Given the description of an element on the screen output the (x, y) to click on. 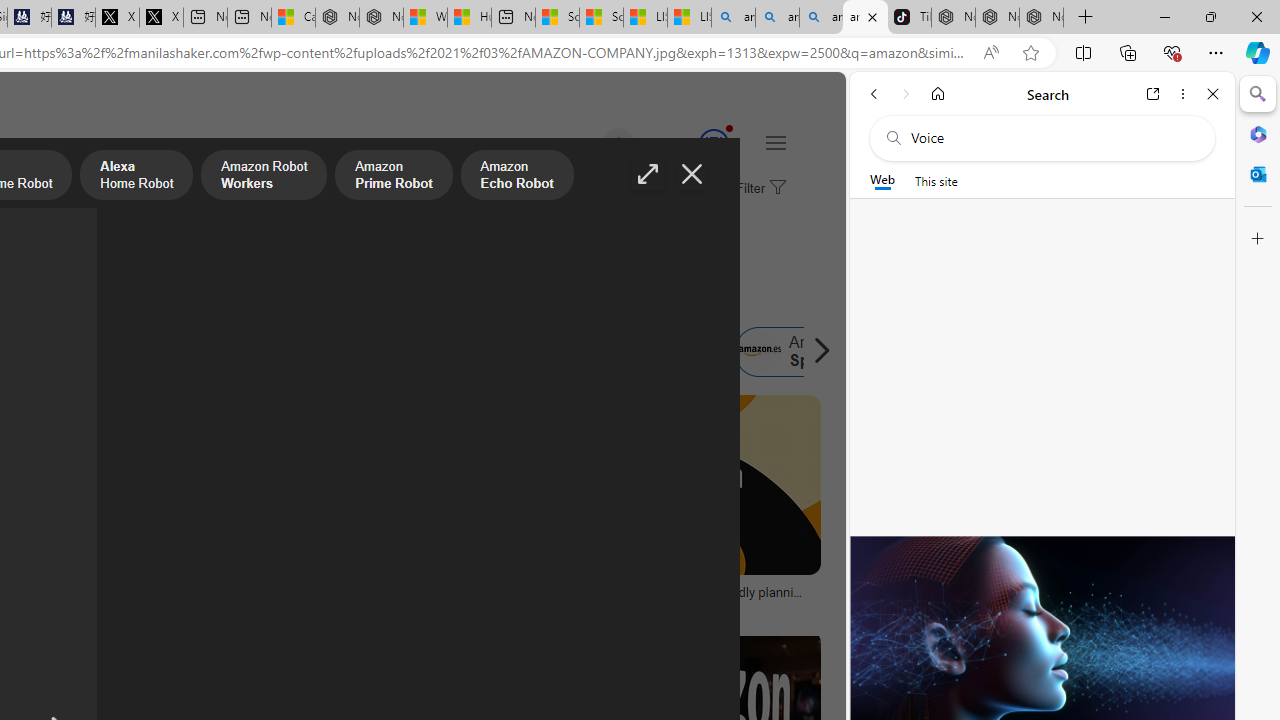
Microsoft Rewards 135 (690, 143)
Image result for amazon (685, 485)
Amazon.com.au (270, 351)
downdetector.ae (368, 606)
Eugene (590, 143)
This site scope (936, 180)
amazon - Search Images (865, 17)
Image result for amazon (685, 485)
Amazon Robot Workers (263, 177)
Open link in new tab (1153, 93)
theverge.com (599, 605)
